Given the description of an element on the screen output the (x, y) to click on. 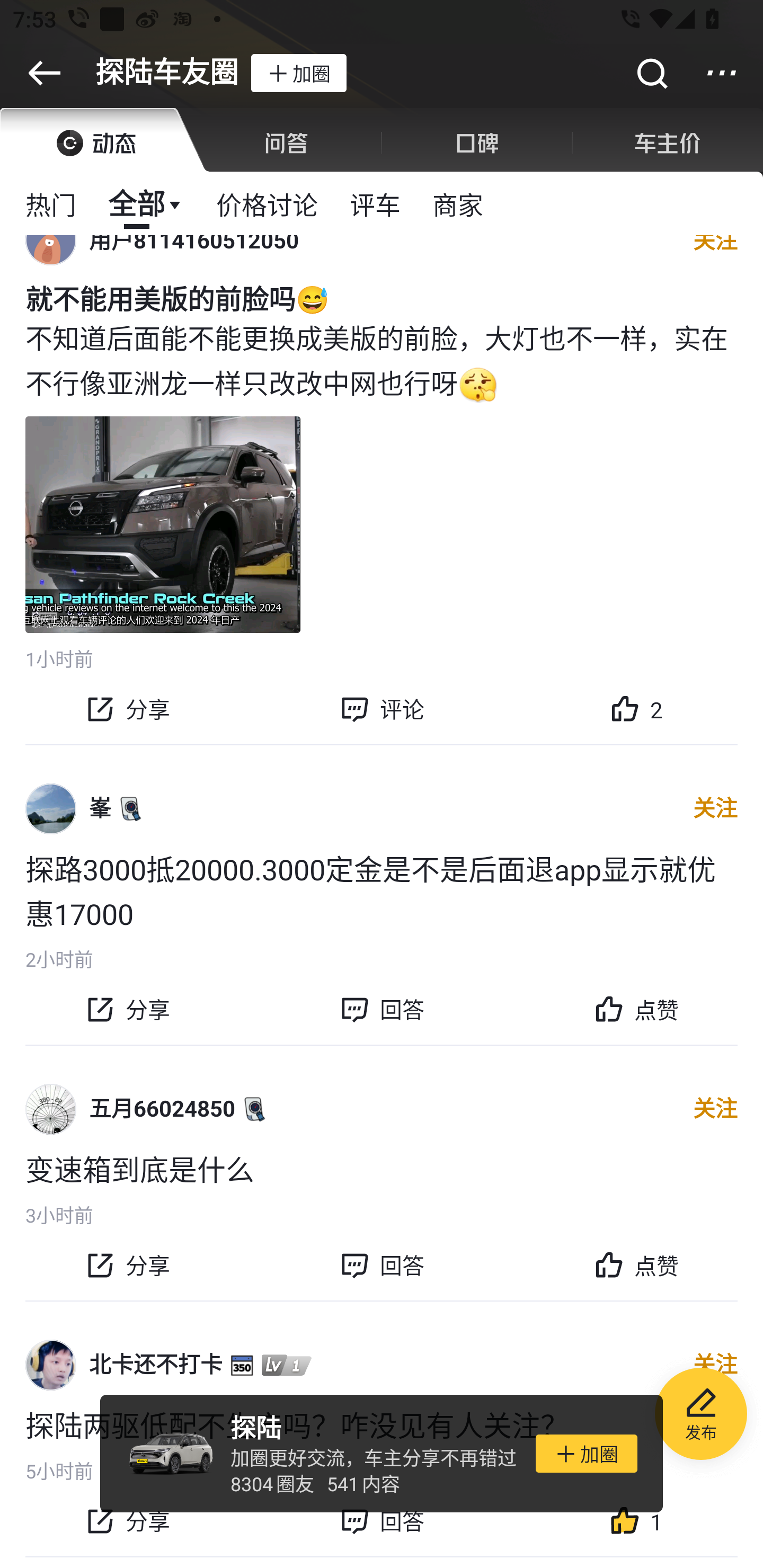
 (44, 72)
 加圈 (298, 72)
 (651, 72)
 (721, 72)
热门 (50, 202)
全部  (146, 202)
价格讨论 (266, 202)
评车 (374, 202)
商家 (457, 202)
不知道后面能不能更换成美版的前脸，大灯也不一样，实在不行像亚洲龙一样只改改中网也行呀[抠鼻] (381, 359)
 分享 (127, 709)
 评论 (381, 709)
2 (635, 709)
关注 (714, 808)
峯 (100, 808)
探路3000抵20000.3000定金是不是后面退app显示就优惠17000 (381, 889)
 分享 (127, 1009)
 回答 (381, 1009)
点赞 (635, 1009)
关注 (714, 1109)
五月66024850 (162, 1108)
变速箱到底是什么 (381, 1167)
 分享 (127, 1264)
 回答 (381, 1264)
点赞 (635, 1264)
关注 (714, 1364)
北卡还不打卡 (155, 1364)
 发布 (701, 1416)
探陆 加圈更好交流，车主分享不再错过 8304< >圈友< >541< >内容  加圈 (381, 1454)
 加圈 (586, 1453)
 分享 (127, 1521)
 回答 (381, 1521)
1 (635, 1521)
